Given the description of an element on the screen output the (x, y) to click on. 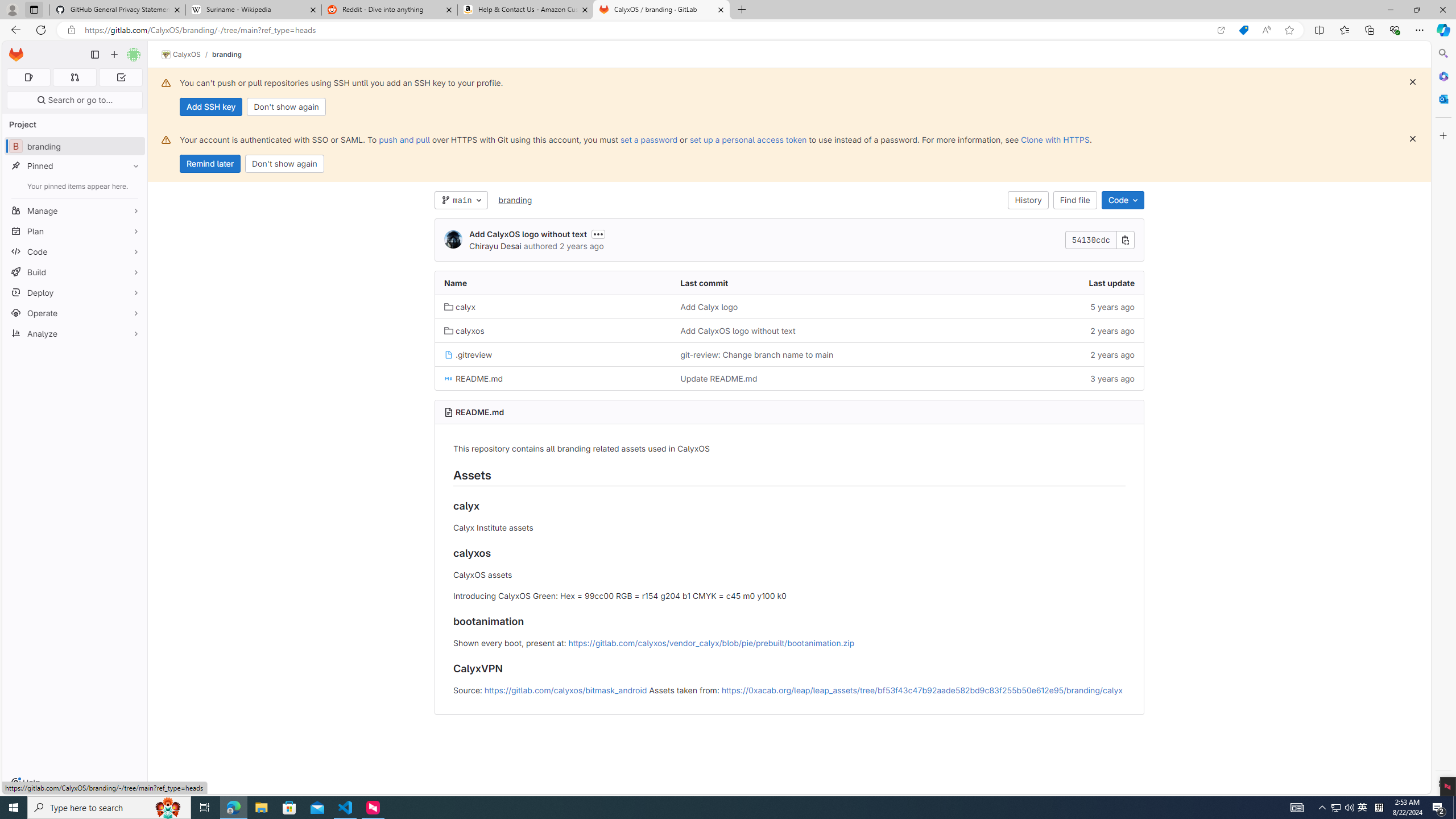
Update README.md (718, 378)
.gitreview (553, 354)
Suriname - Wikipedia (253, 9)
Add Calyx logo (789, 306)
calyxos (464, 330)
https://gitlab.com/calyxos/bitmask_android (565, 689)
Class: s16 position-relative file-icon (448, 378)
Clone with HTTPS (1054, 139)
Create new... (113, 54)
Code (74, 251)
Deploy (74, 292)
